Given the description of an element on the screen output the (x, y) to click on. 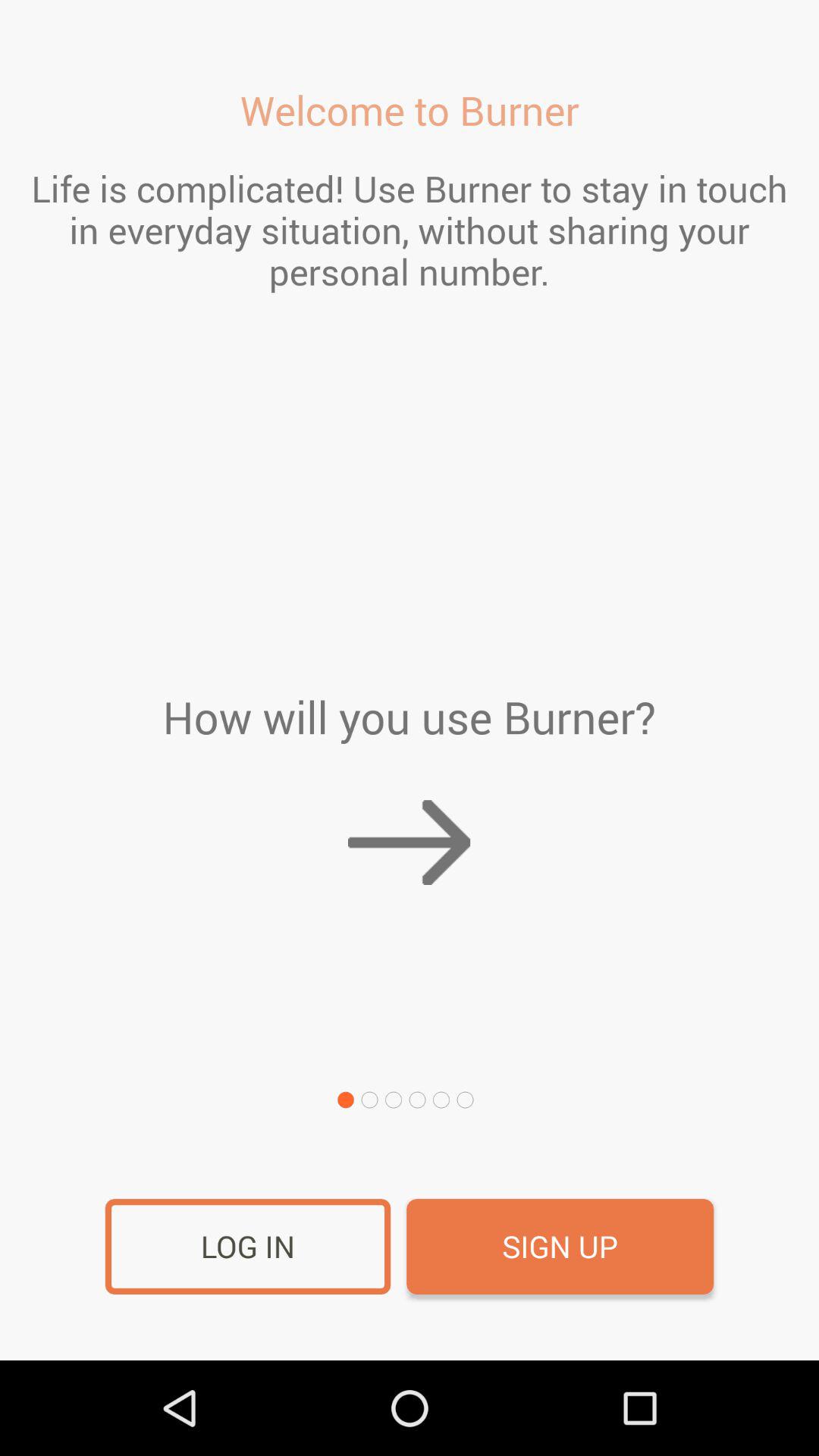
choose the item at the bottom right corner (559, 1246)
